Given the description of an element on the screen output the (x, y) to click on. 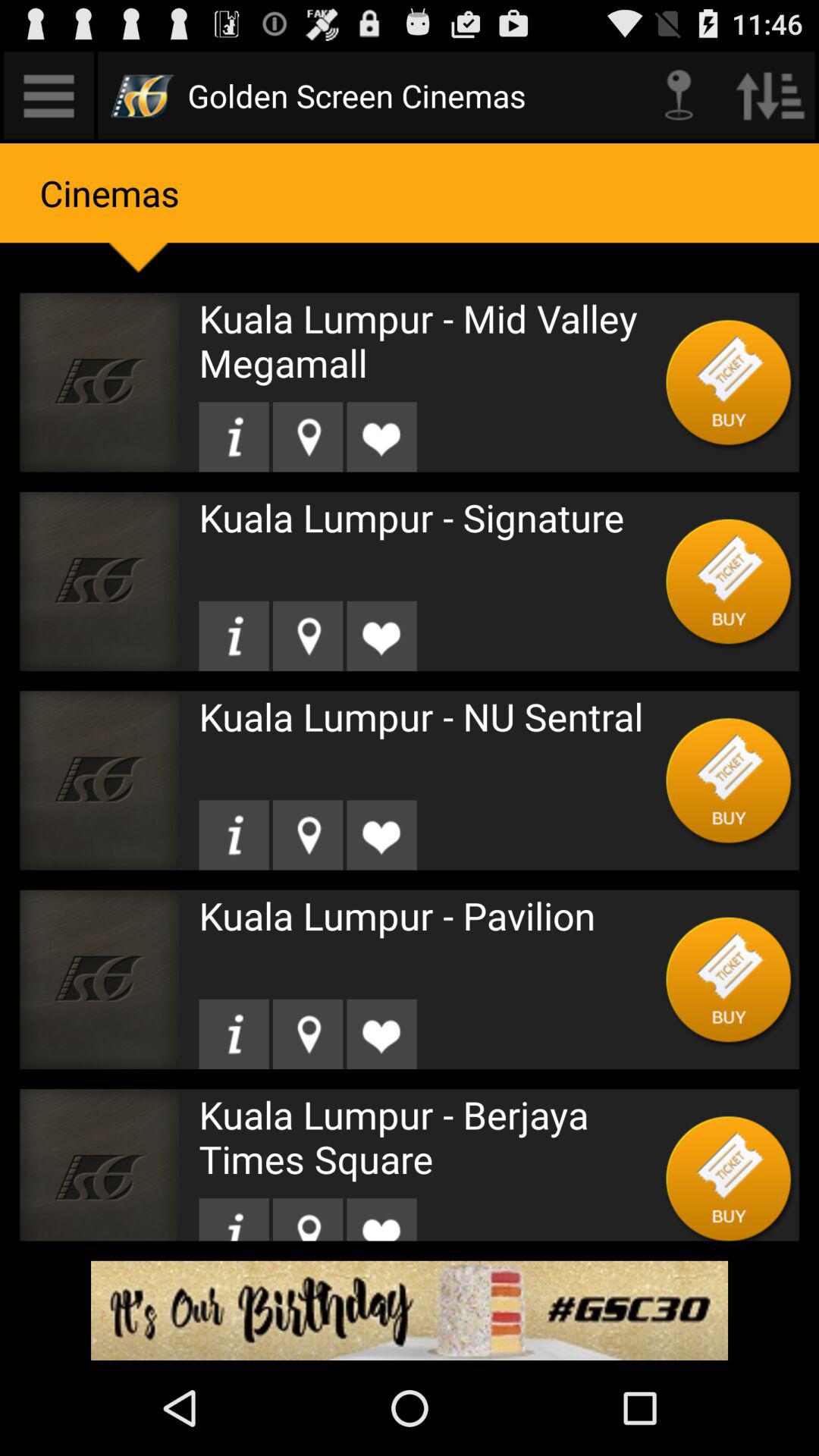
go to logation (307, 437)
